Given the description of an element on the screen output the (x, y) to click on. 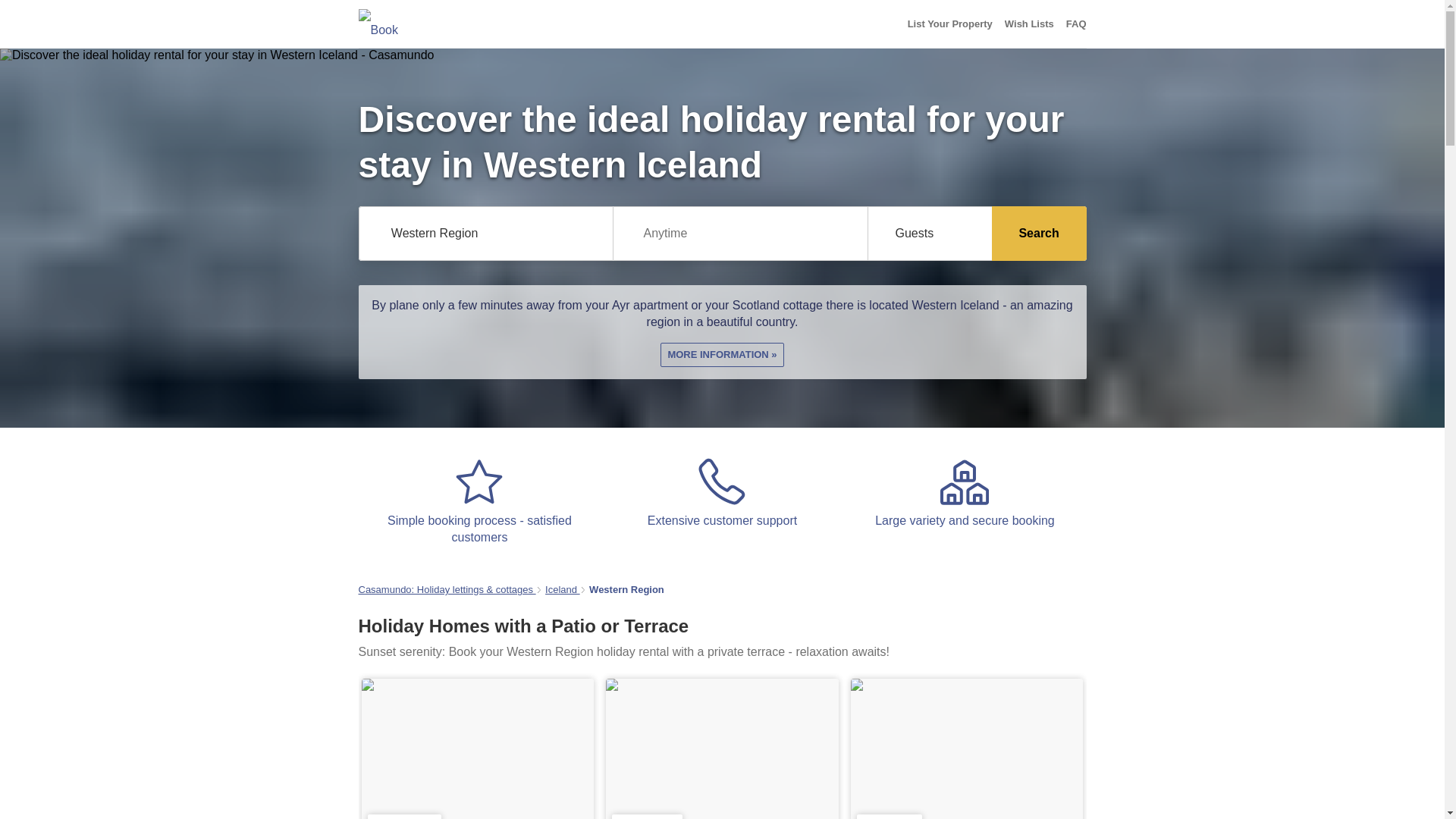
Iceland (561, 589)
Wish Lists (1029, 24)
FAQ (1075, 24)
Search (1038, 233)
Iceland (561, 589)
List Your Property (949, 24)
